Given the description of an element on the screen output the (x, y) to click on. 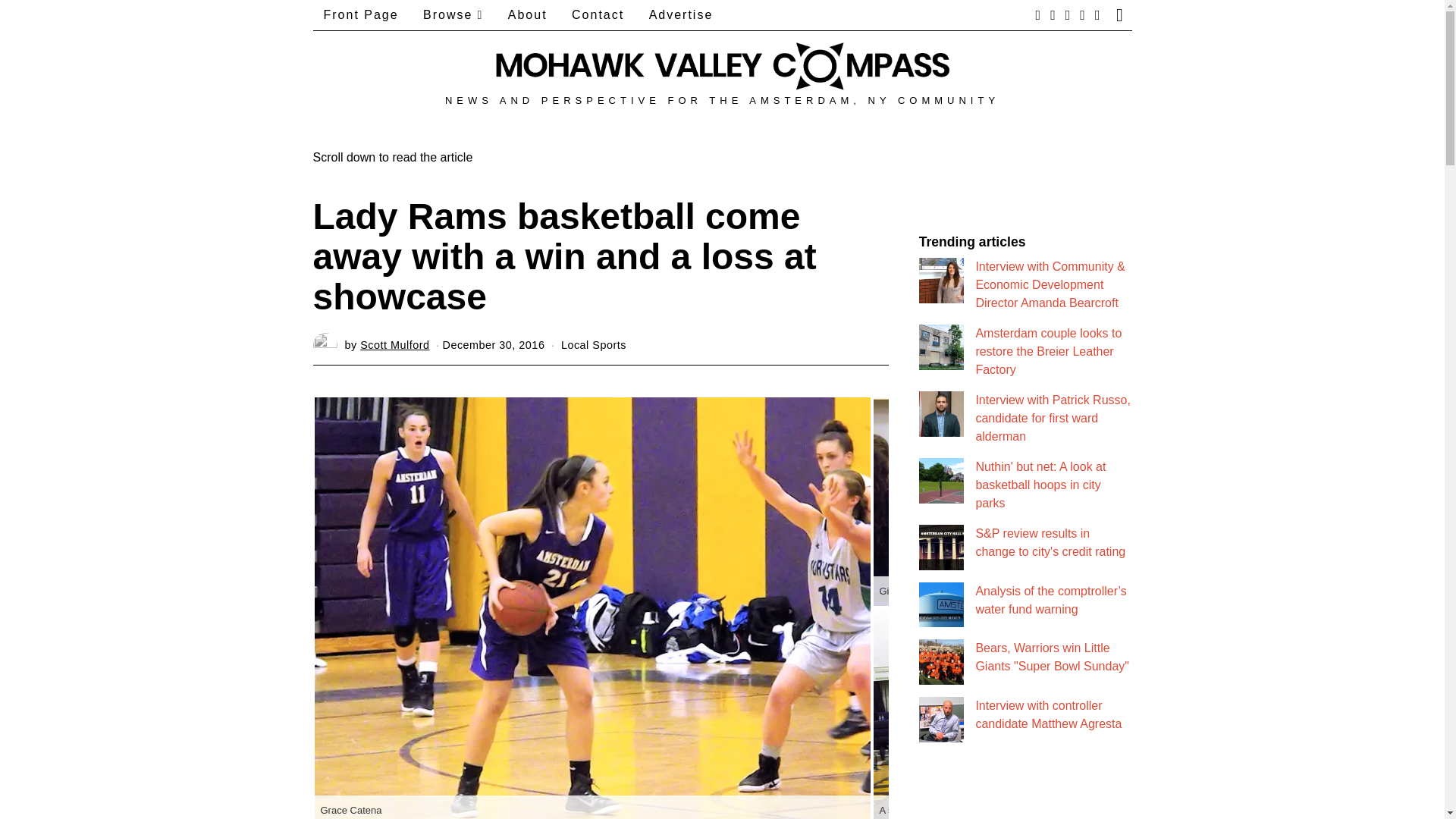
Front Page (361, 15)
About (527, 15)
showcase2 (1009, 714)
showcase3 (1009, 501)
Browse (452, 15)
Scott Mulford (394, 345)
Local Sports (593, 345)
Contact (597, 15)
Advertise (681, 15)
